Given the description of an element on the screen output the (x, y) to click on. 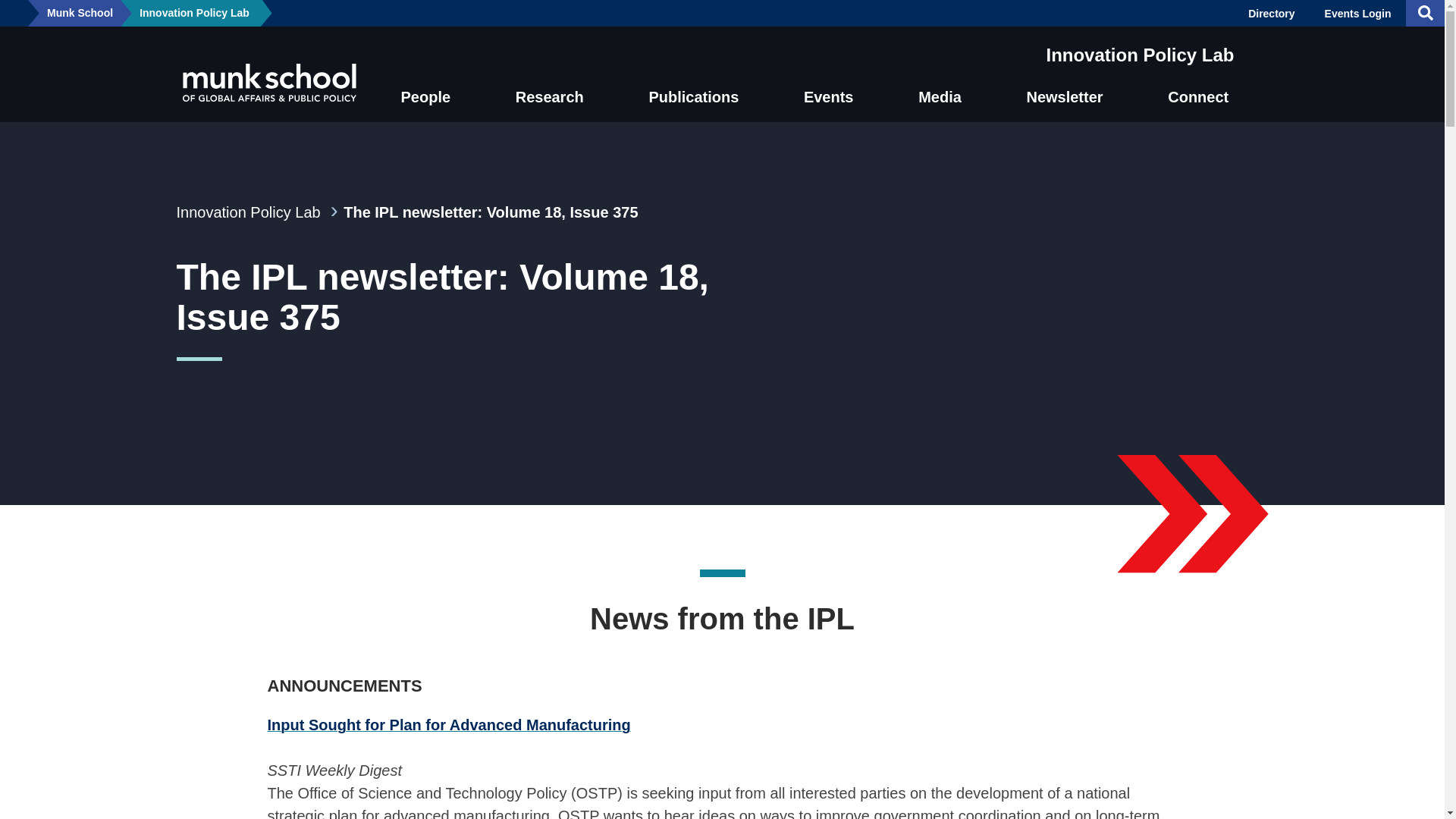
Directory (1270, 13)
Skip to main content (10, 11)
Media (947, 97)
Publications (700, 97)
Events Login (1357, 13)
People (432, 97)
Munk School (79, 12)
Newsletter (1071, 97)
Events (835, 97)
Innovation Policy Lab (193, 12)
Research (556, 97)
